Given the description of an element on the screen output the (x, y) to click on. 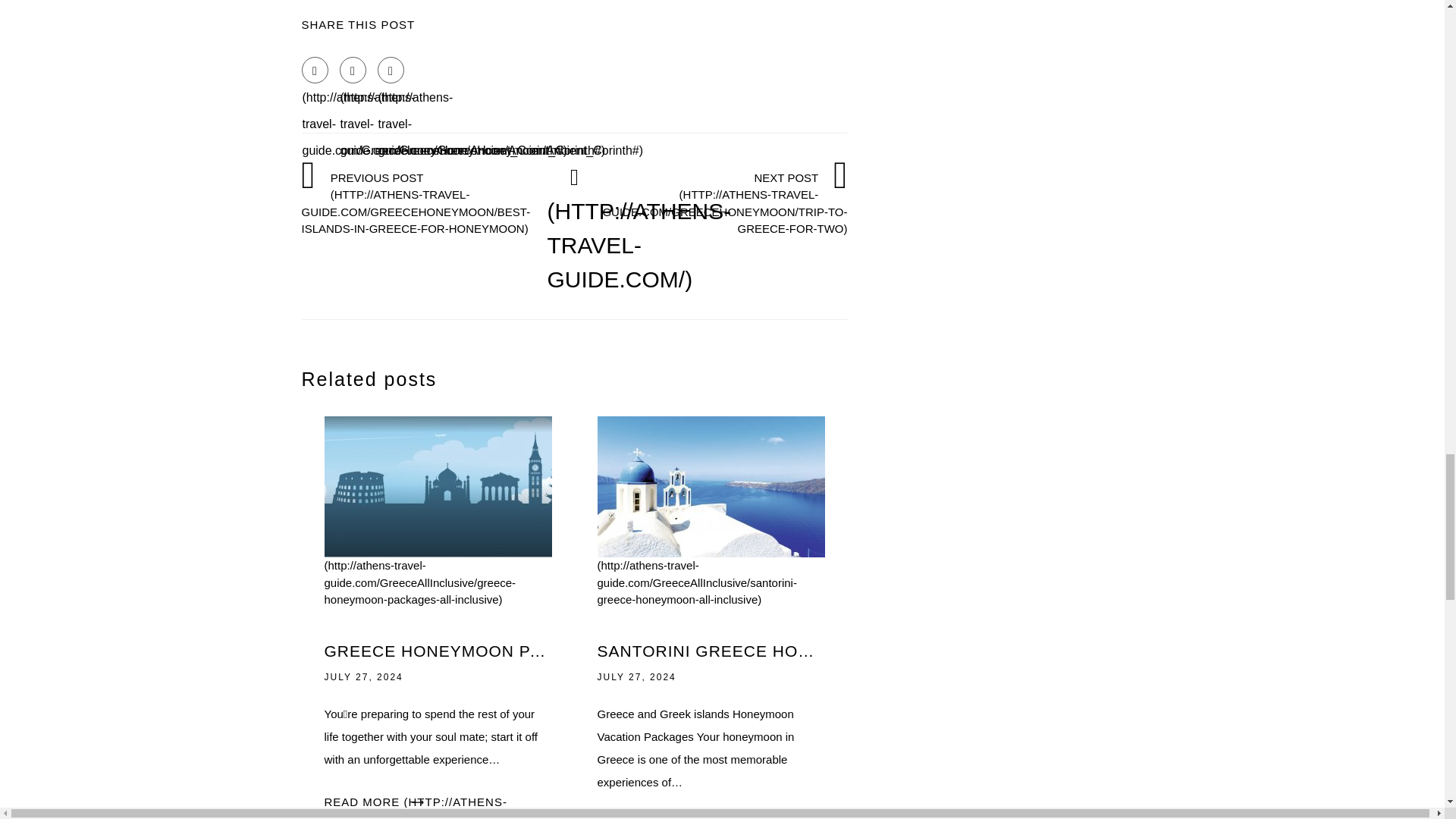
READ MORE (464, 807)
NEXT POST (724, 202)
Greece honeymoon Packages all Inclusive (437, 542)
PREVIOUS POST (424, 202)
Google Plus (390, 69)
GREECE HONEYMOON PACKAGES ALL INCLUSIVE (437, 651)
Santorini Greece honeymoon all Inclusive (710, 542)
Facebook (315, 69)
Twitter (352, 69)
SANTORINI GREECE HONEYMOON ALL INCLUSIVE (710, 651)
